Given the description of an element on the screen output the (x, y) to click on. 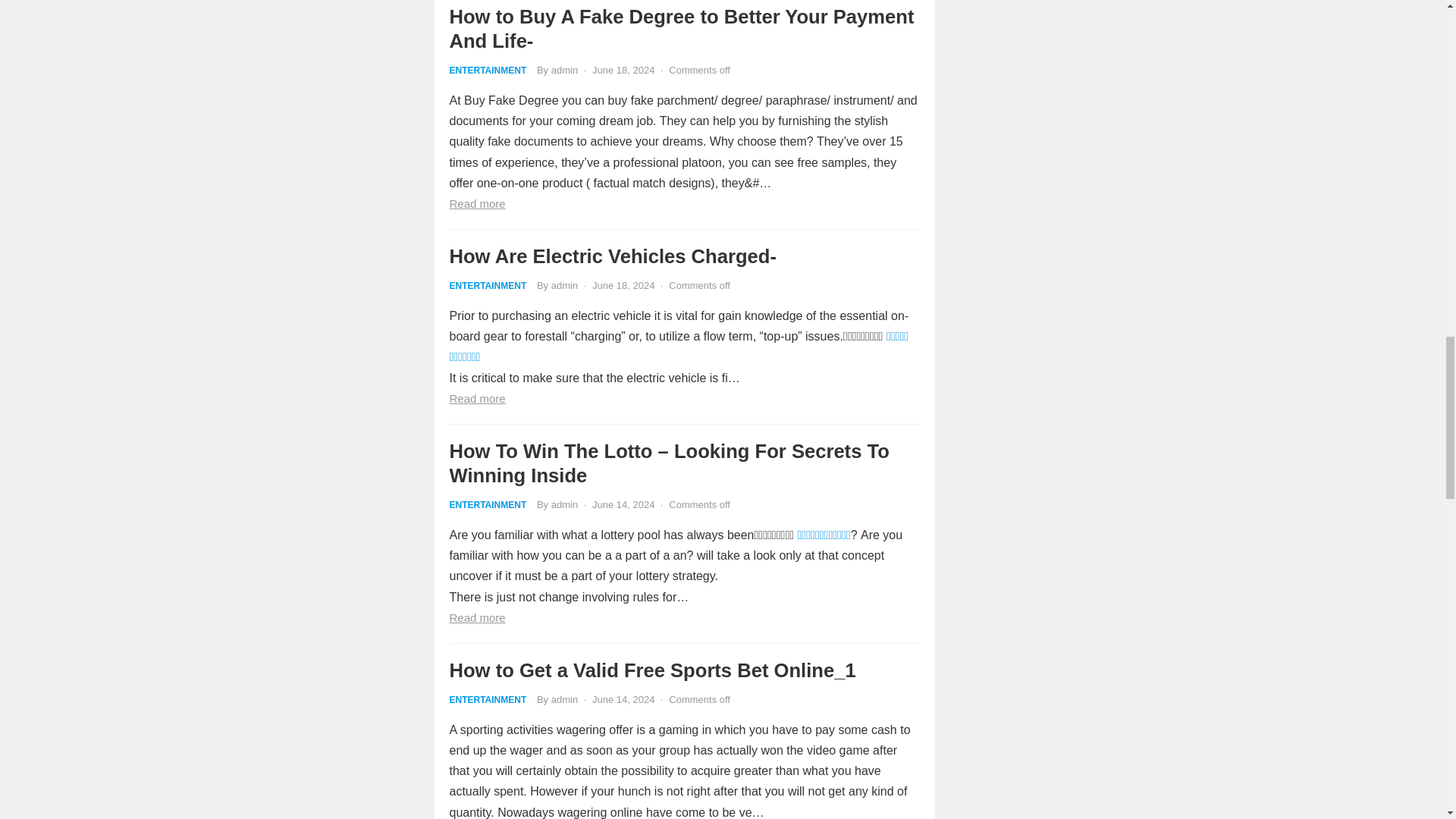
Posts by admin (564, 504)
Posts by admin (564, 699)
Posts by admin (564, 70)
Posts by admin (564, 285)
